Given the description of an element on the screen output the (x, y) to click on. 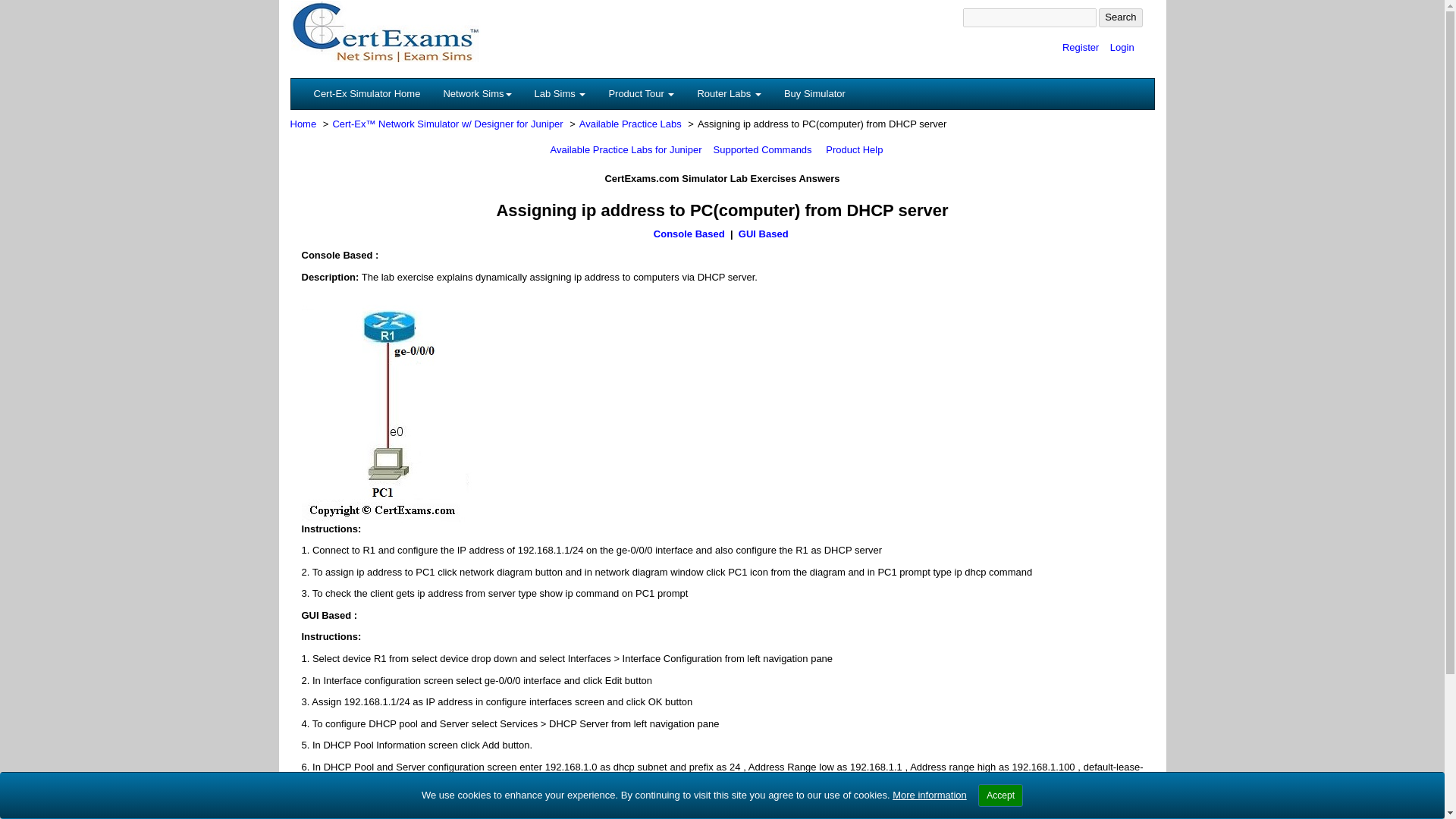
Network Sims (476, 93)
Lab Sims (559, 93)
Home (302, 123)
Search (1120, 17)
Buy Simulator (815, 93)
Available Practice Labs (630, 123)
Product Help (853, 149)
Available Practice Labs for Juniper (625, 149)
Login (1121, 47)
Register (1080, 47)
